Given the description of an element on the screen output the (x, y) to click on. 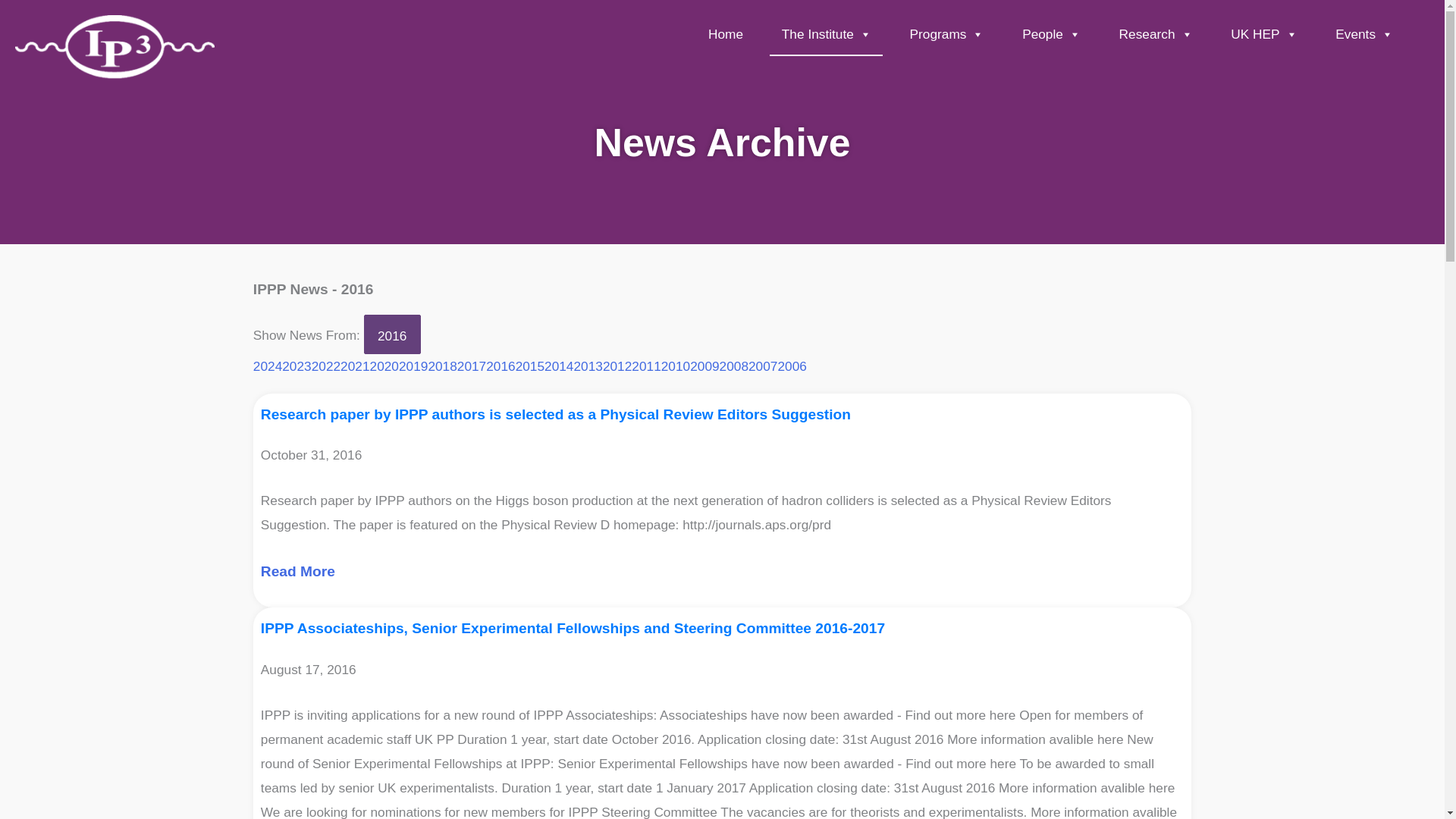
Programs (946, 35)
Events (1364, 35)
Home (726, 35)
UK HEP (1264, 35)
2024 (267, 365)
2016 (392, 333)
The Institute (826, 35)
2022 (325, 365)
Research (1155, 35)
